Given the description of an element on the screen output the (x, y) to click on. 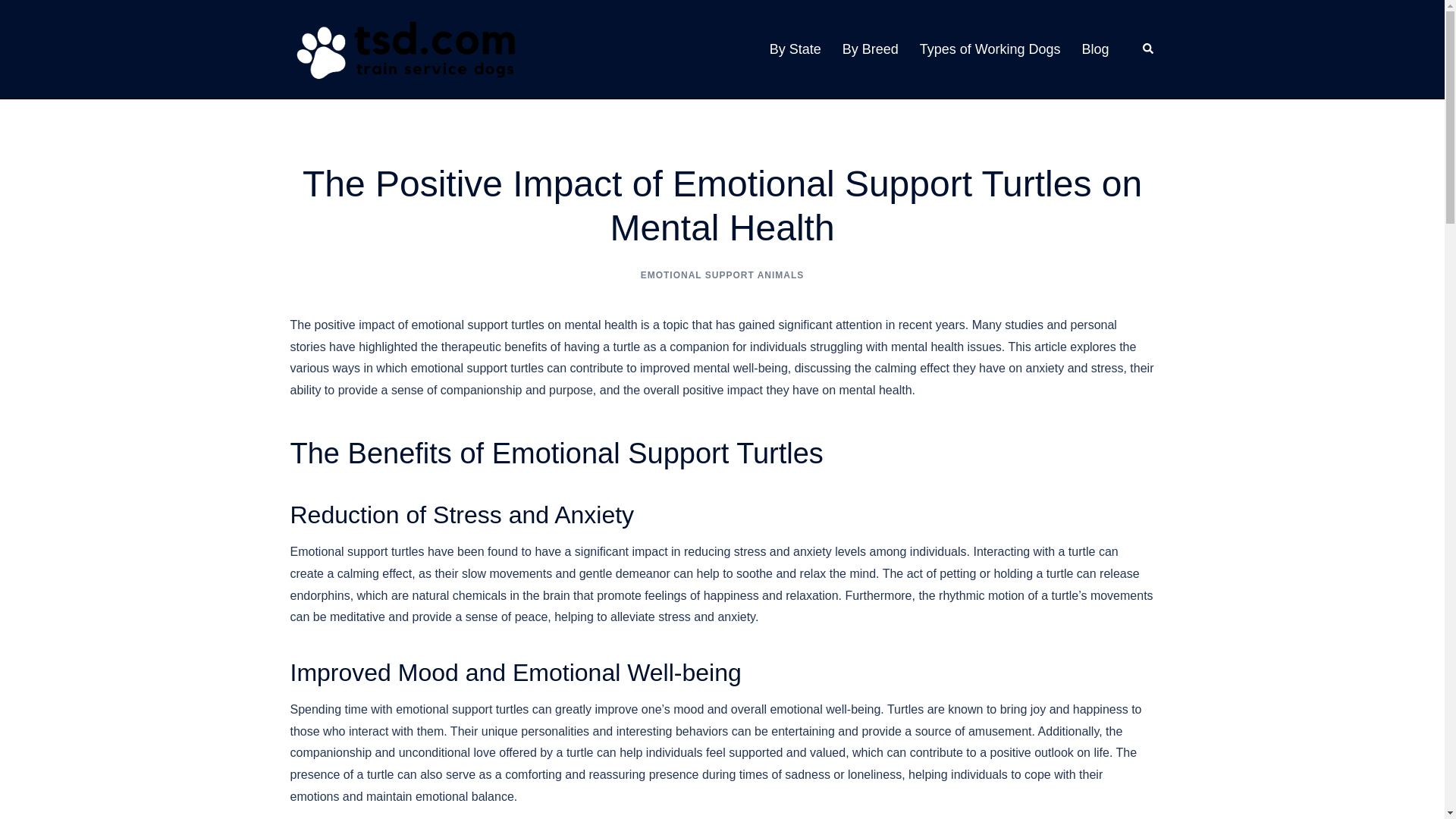
Types of Working Dogs (990, 48)
By Breed (870, 48)
By State (795, 48)
EMOTIONAL SUPPORT ANIMALS (722, 275)
Blog (1094, 48)
Search (1147, 49)
TrainServiceDogs.com (402, 47)
